Given the description of an element on the screen output the (x, y) to click on. 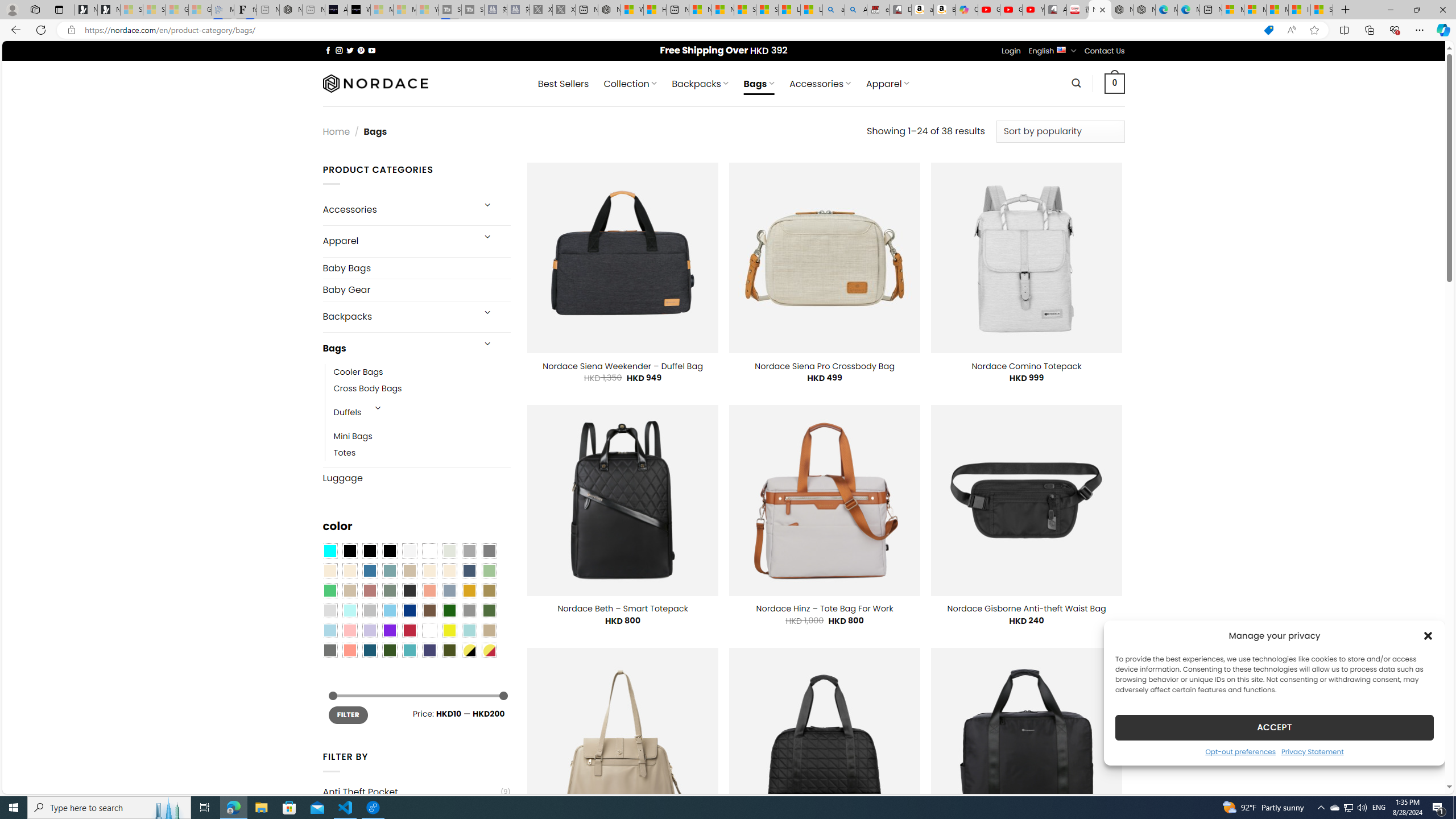
Mini Bags (422, 436)
Dusty Blue (449, 590)
All Cubot phones (1055, 9)
Navy Blue (408, 610)
X - Sleeping (563, 9)
Light Green (488, 570)
Khaki (488, 630)
Copilot (966, 9)
Dull Nickle (329, 649)
Bags (397, 348)
